Given the description of an element on the screen output the (x, y) to click on. 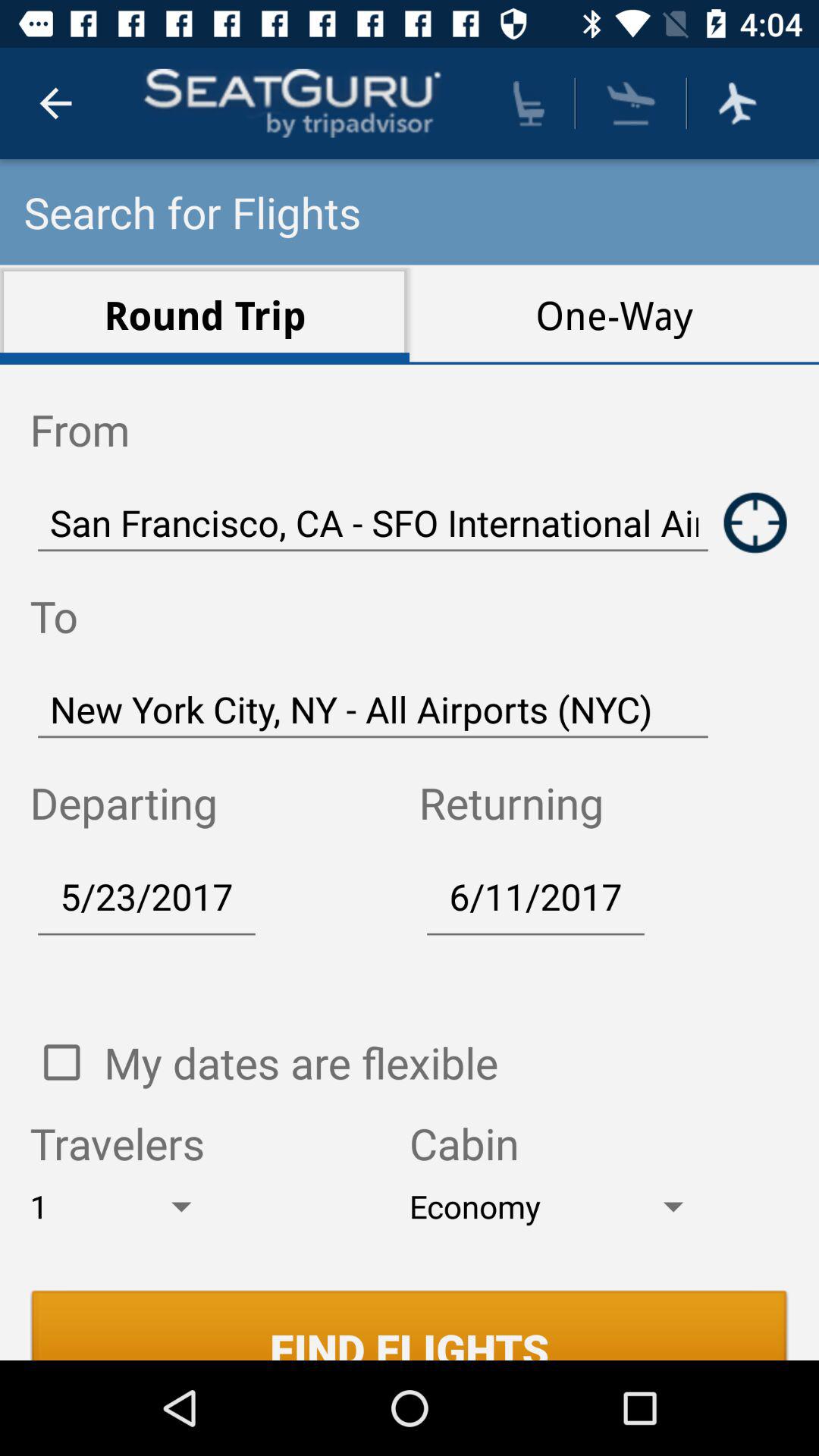
swipe until 5/23/2017 (146, 895)
